Given the description of an element on the screen output the (x, y) to click on. 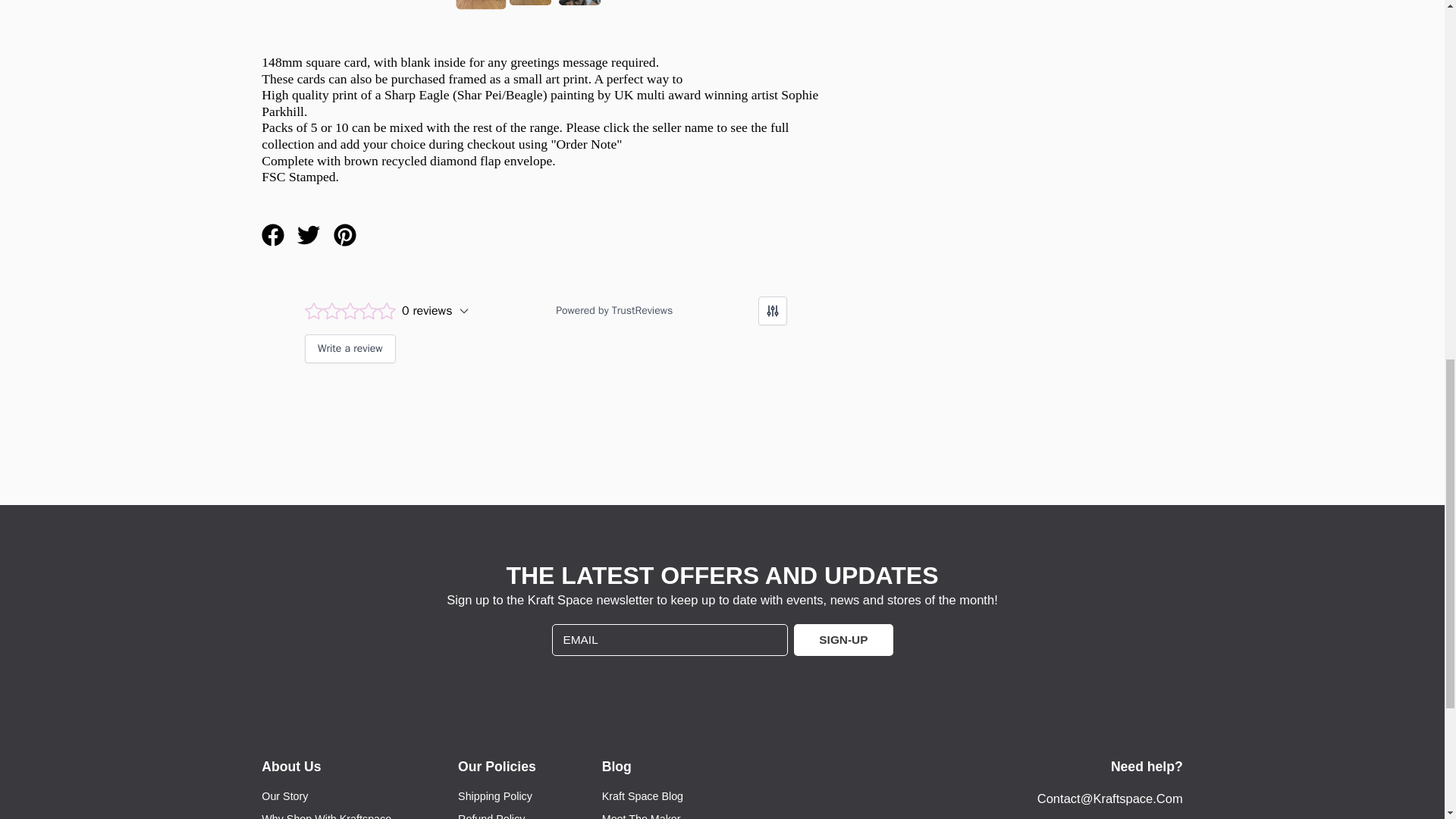
Reviews (545, 336)
